Given the description of an element on the screen output the (x, y) to click on. 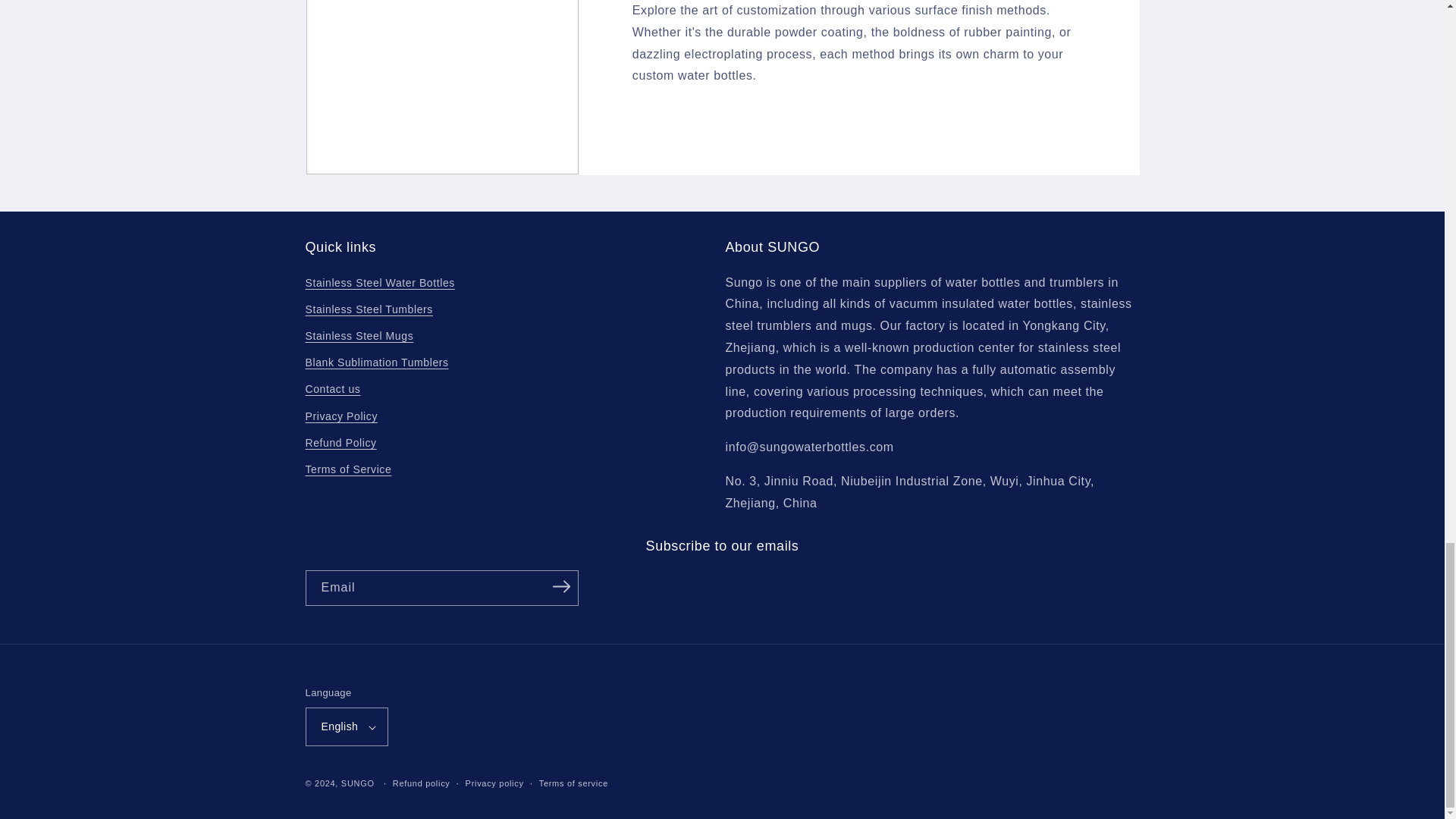
English (346, 726)
Privacy Policy (340, 416)
Contact us (331, 388)
Privacy policy (494, 783)
Stainless Steel Water Bottles (379, 284)
Terms of Service (347, 469)
Refund policy (421, 783)
Blank Sublimation Tumblers (376, 362)
SUNGO (357, 782)
Stainless Steel Mugs (358, 335)
Refund Policy (339, 442)
Stainless Steel Tumblers (368, 309)
Terms of service (573, 783)
